Given the description of an element on the screen output the (x, y) to click on. 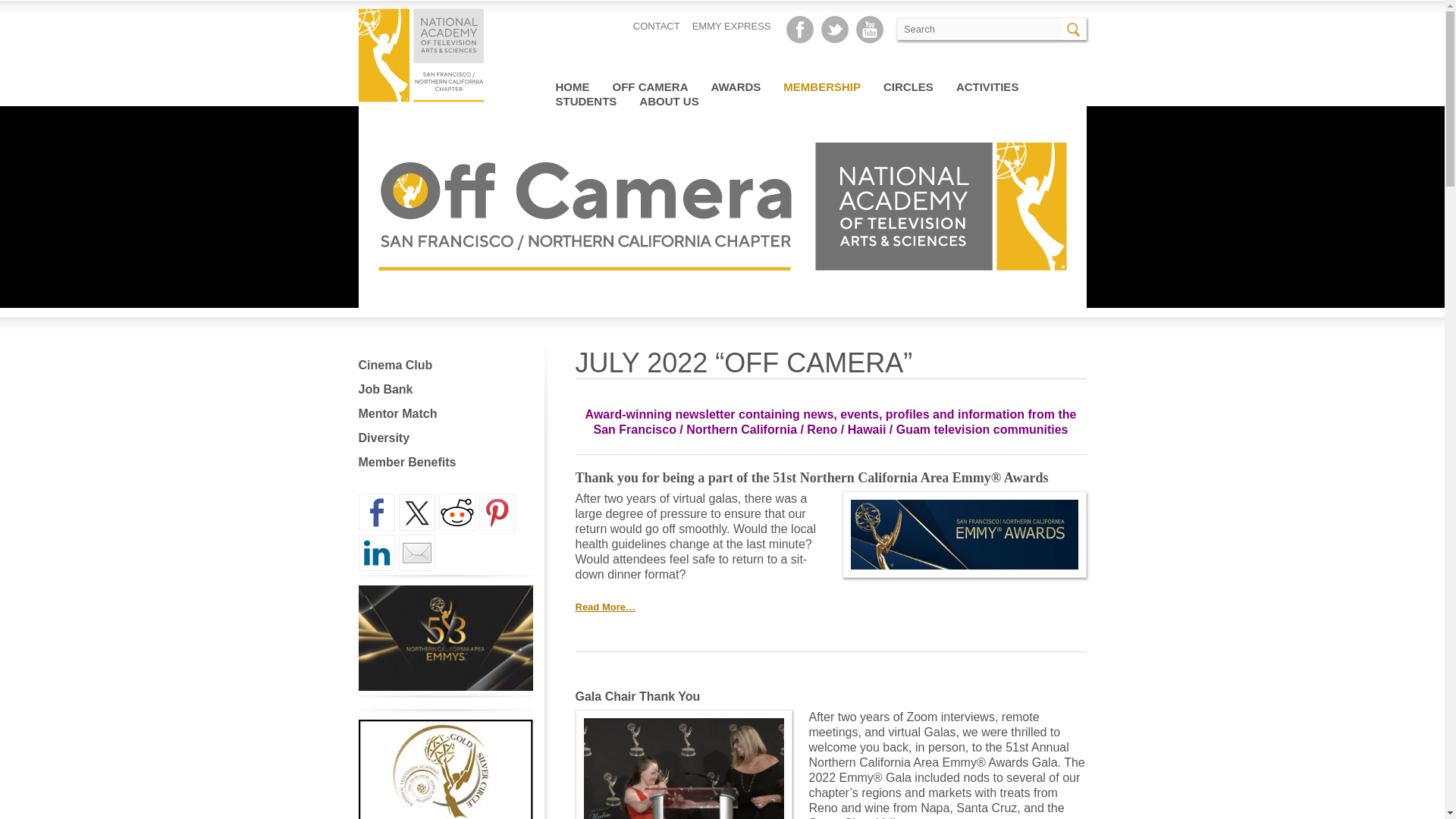
Share on Facebook (376, 512)
Skip to secondary content (863, 87)
Skip to primary content (860, 87)
AWARDS (736, 86)
Share by email (416, 552)
OFF CAMERA (650, 86)
CIRCLES (908, 86)
Search (1074, 28)
Skip to primary content (860, 87)
Skip to secondary content (863, 87)
EMMY EXPRESS (732, 25)
Share on Twitter (416, 512)
Share on Linkedin (376, 552)
MEMBERSHIP (821, 86)
Pin it with Pinterest (497, 512)
